Given the description of an element on the screen output the (x, y) to click on. 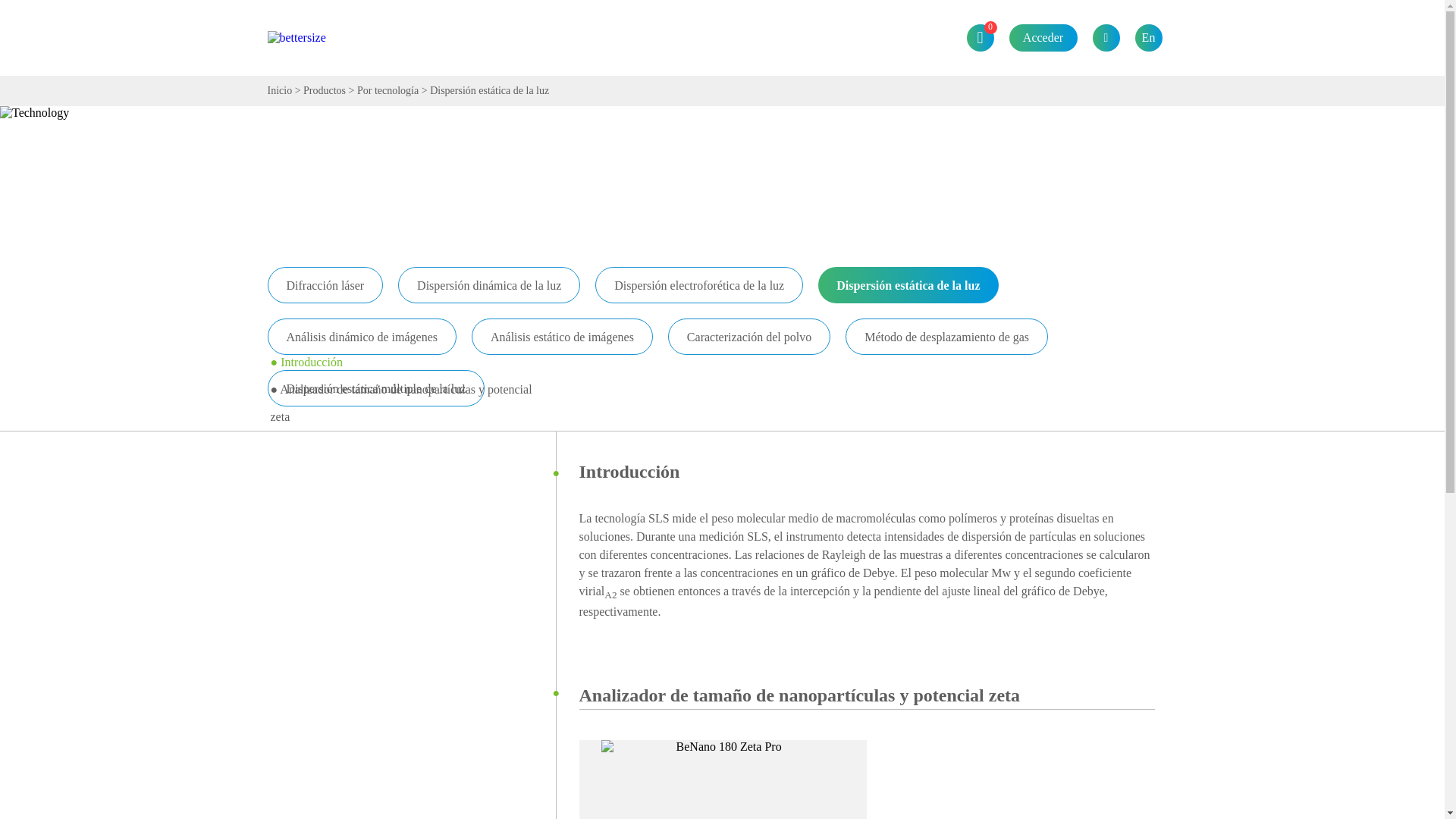
Producto (484, 9)
